Given the description of an element on the screen output the (x, y) to click on. 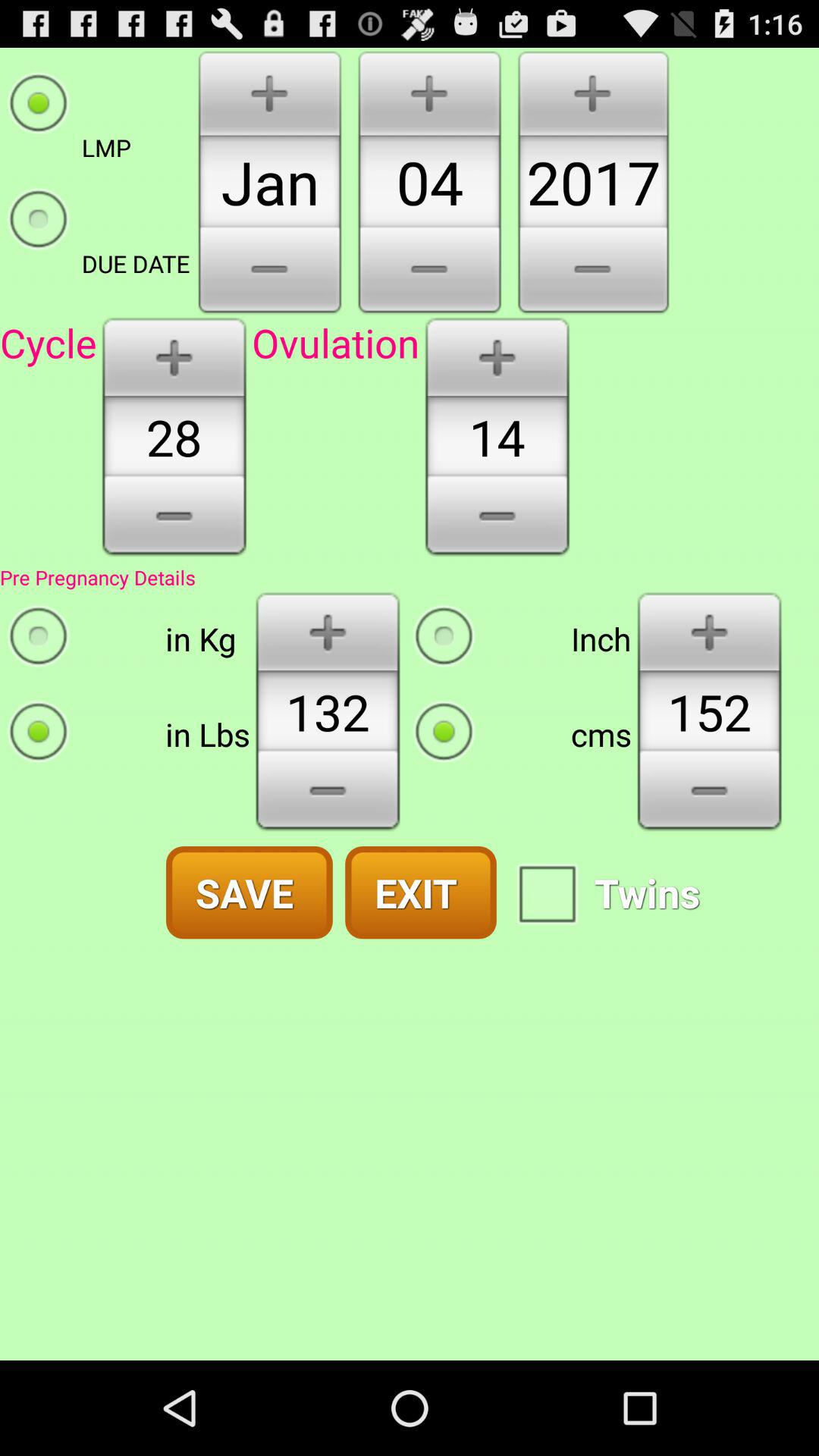
decrease measurement (709, 795)
